Given the description of an element on the screen output the (x, y) to click on. 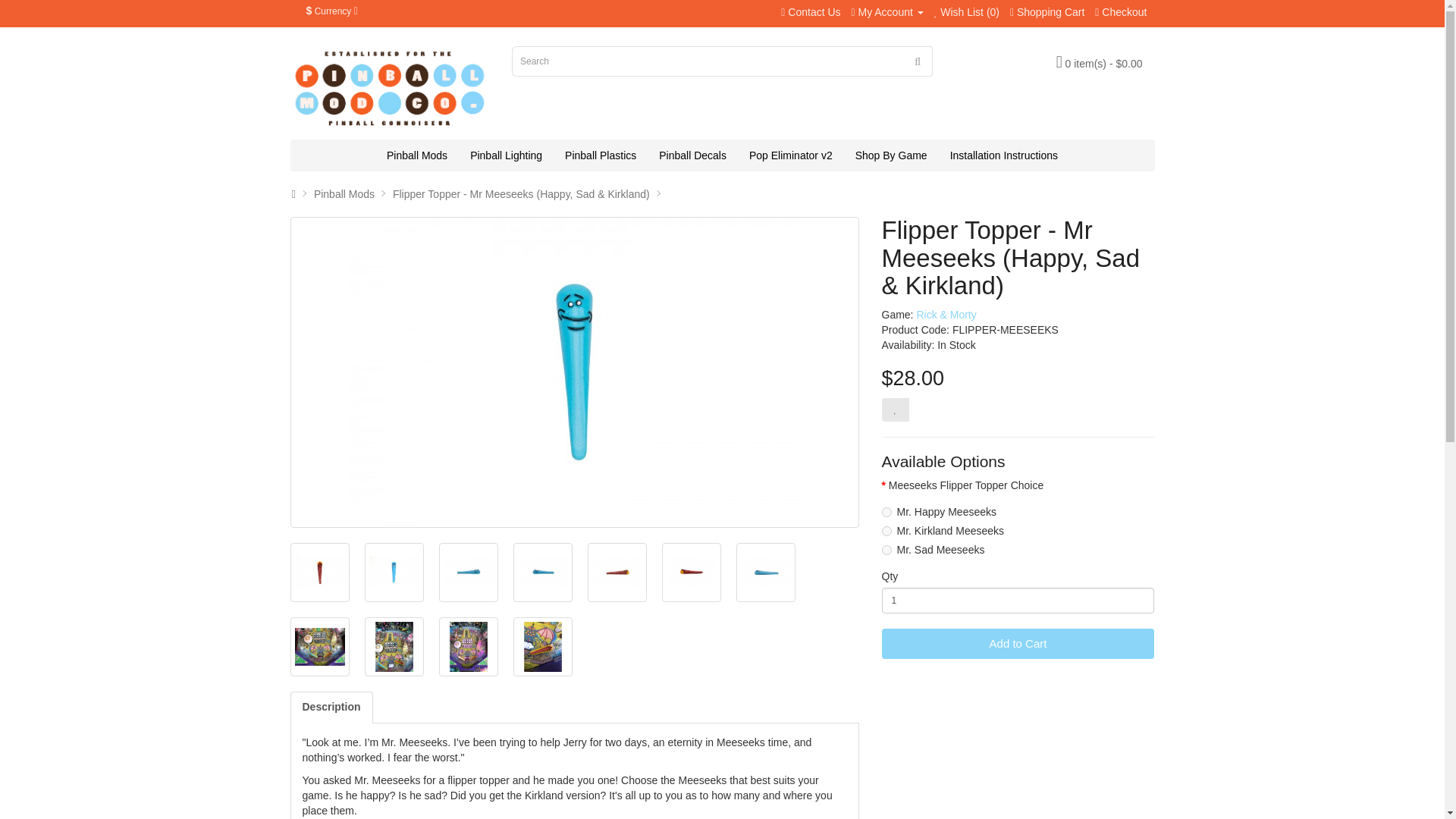
Shop By Game (891, 155)
My Account (886, 11)
110 (885, 550)
Checkout (1120, 11)
Shopping Cart (1047, 11)
Checkout (1120, 11)
Contact Us (810, 11)
111 (885, 531)
The Pinball Mod Company (389, 86)
Pinball Decals (692, 155)
1 (1017, 600)
109 (885, 511)
Pinball Mods (416, 155)
Pinball Lighting (505, 155)
Pop Eliminator v2 (791, 155)
